Given the description of an element on the screen output the (x, y) to click on. 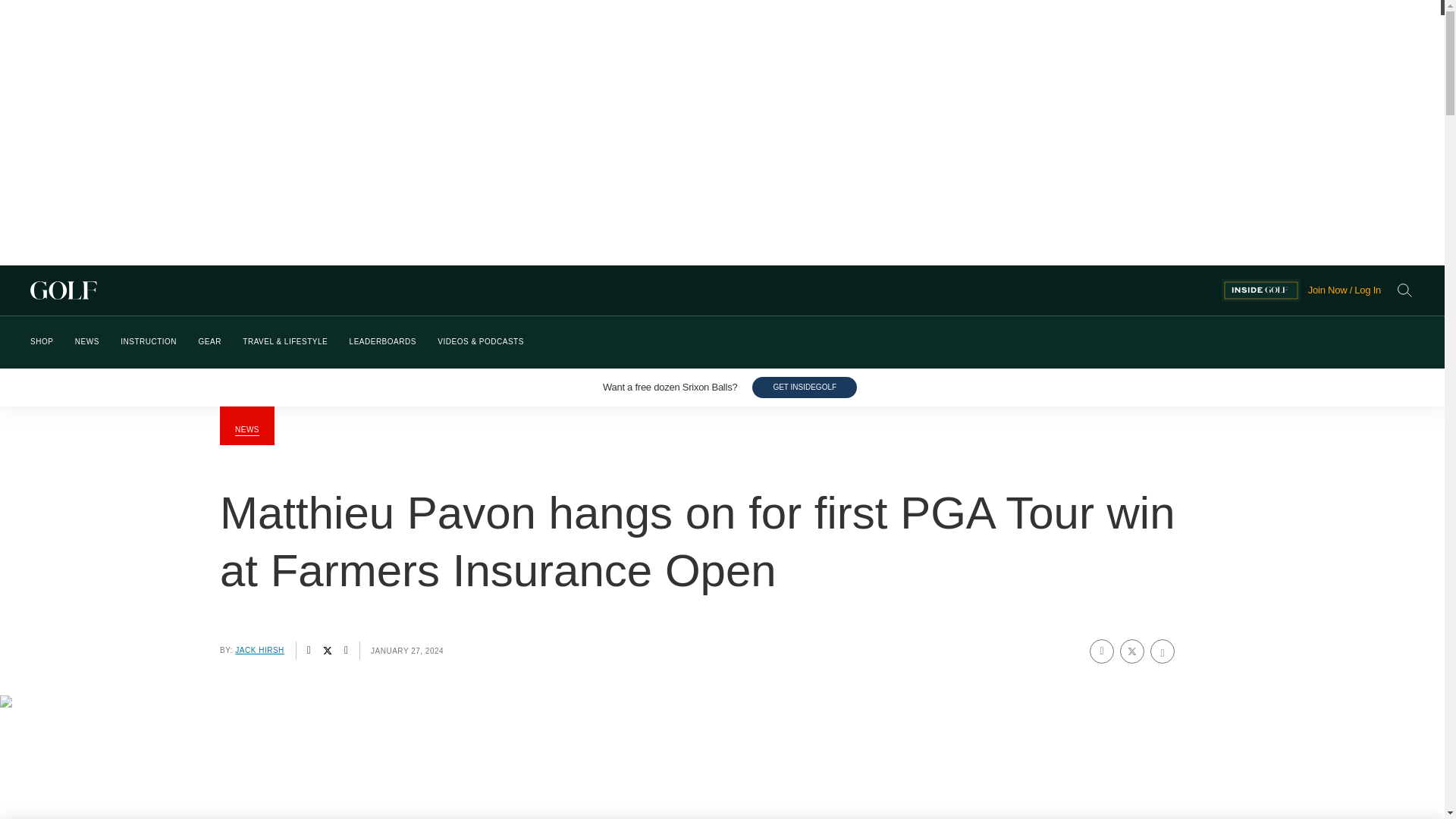
SHOP (41, 341)
Golf Logo (625, 290)
Golf logo. Back to home. (625, 290)
INSTRUCTION (148, 341)
NEWS (87, 341)
